Given the description of an element on the screen output the (x, y) to click on. 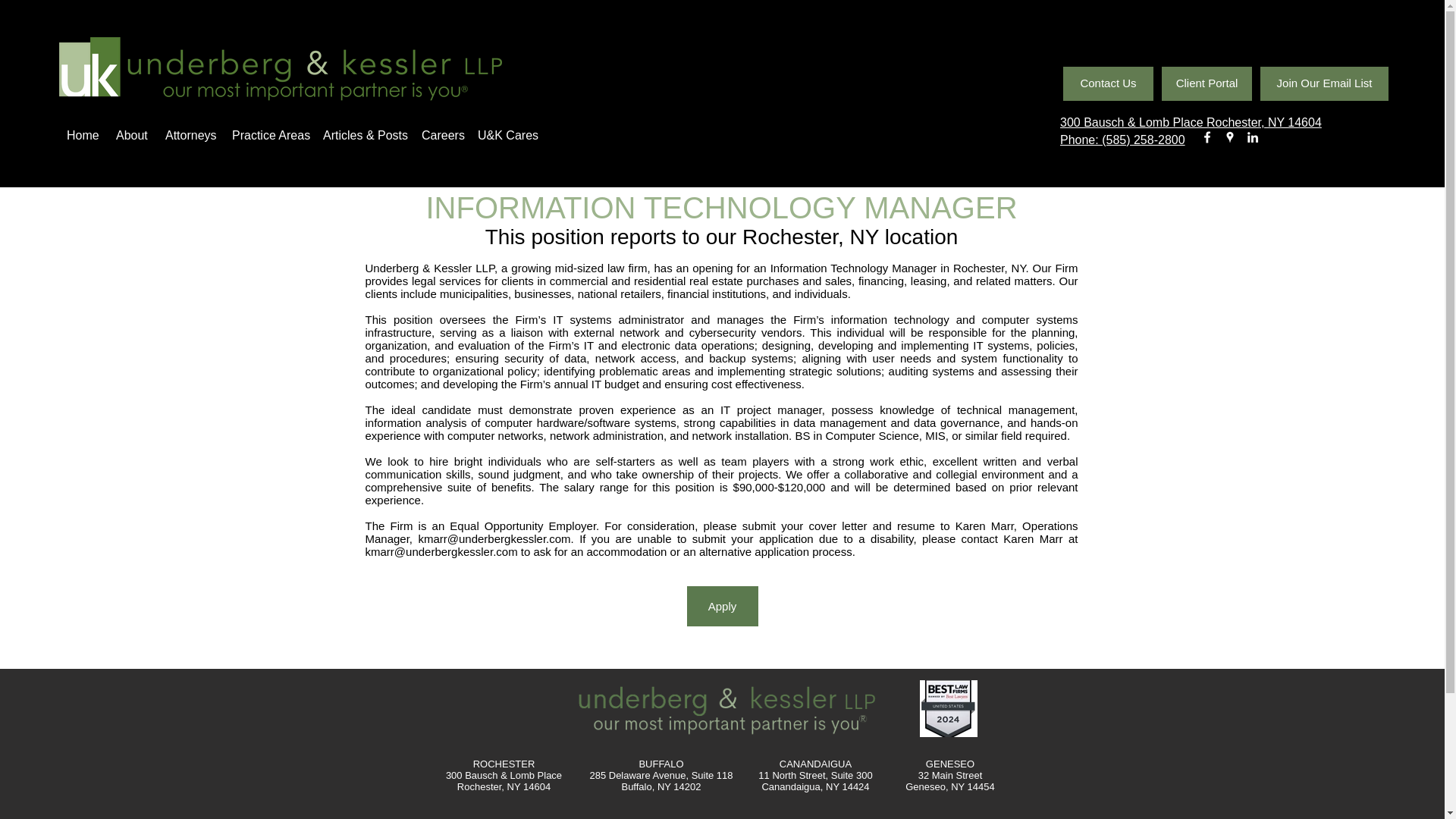
2023 Best Law Firms.png (947, 708)
Contact Us (1107, 83)
Join Our Email List (1324, 83)
Practice Areas (269, 135)
About (132, 135)
Client Portal (1206, 83)
Home (83, 135)
Attorneys (190, 135)
